Given the description of an element on the screen output the (x, y) to click on. 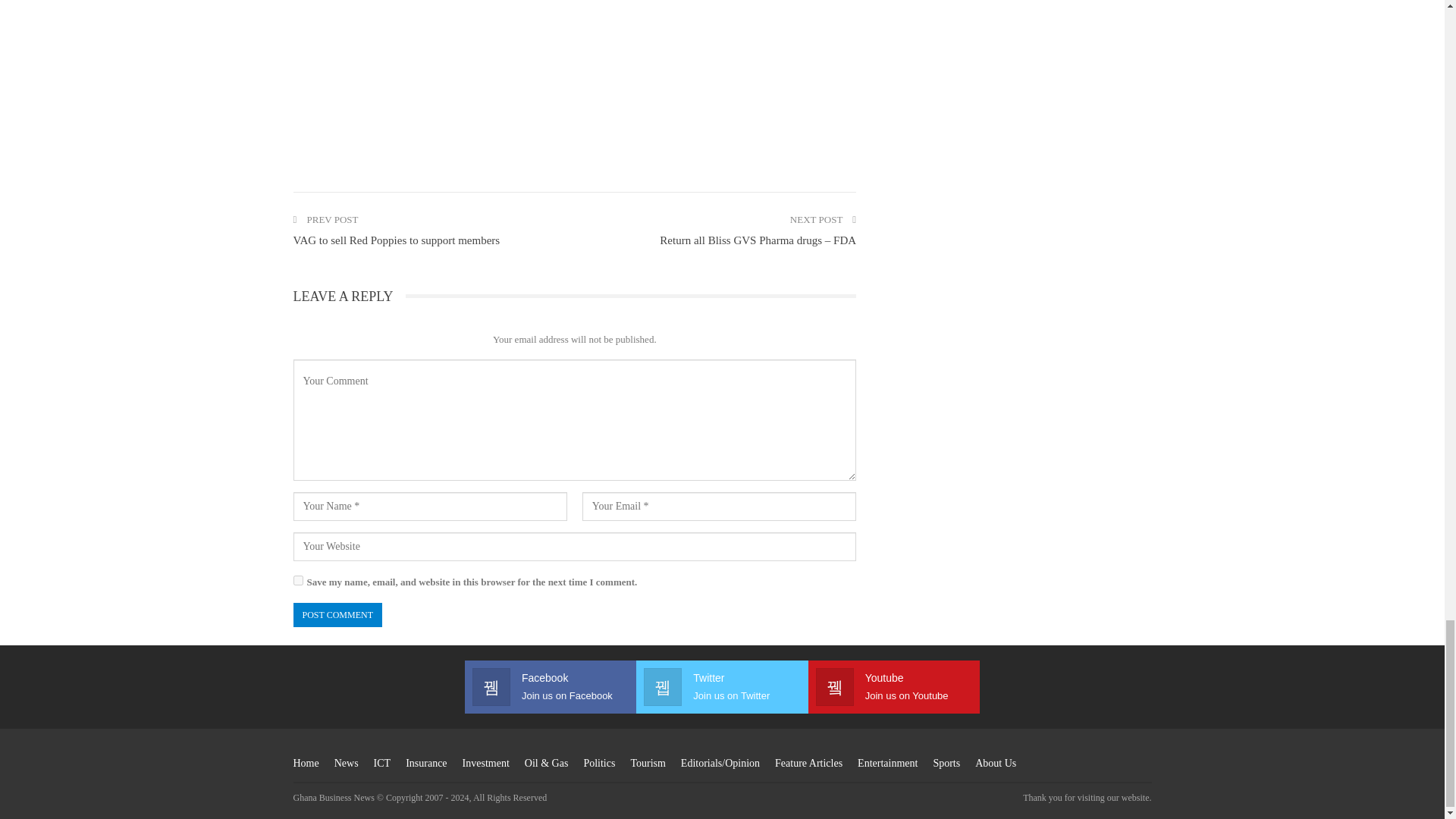
yes (297, 580)
Post Comment (336, 615)
Post Comment (336, 615)
VAG to sell Red Poppies to support members (395, 240)
